Given the description of an element on the screen output the (x, y) to click on. 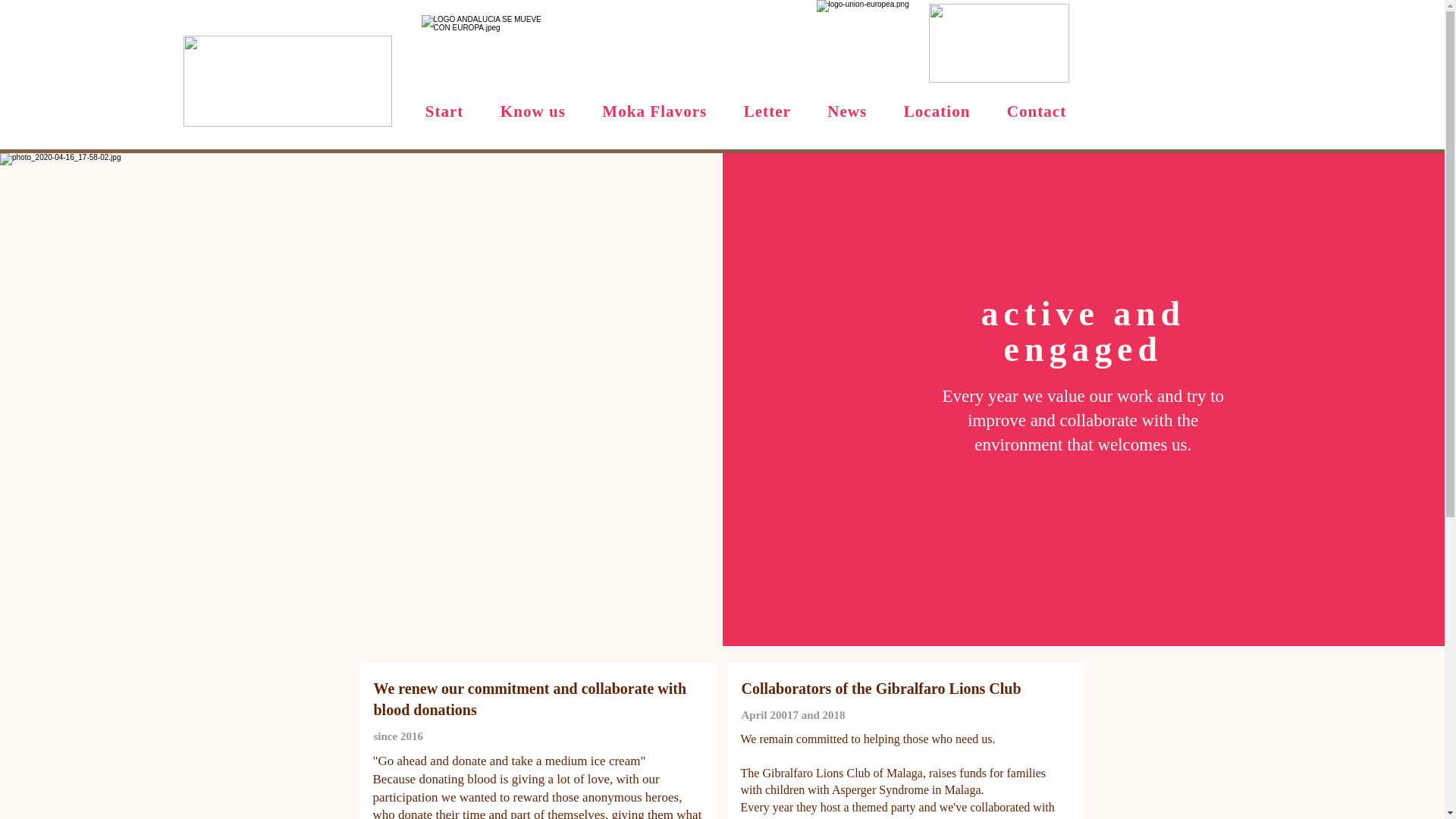
Moka Flavors (654, 111)
Letter (767, 111)
Start (444, 111)
Location (936, 111)
News (847, 111)
Know us (532, 111)
Contact (1036, 111)
